Given the description of an element on the screen output the (x, y) to click on. 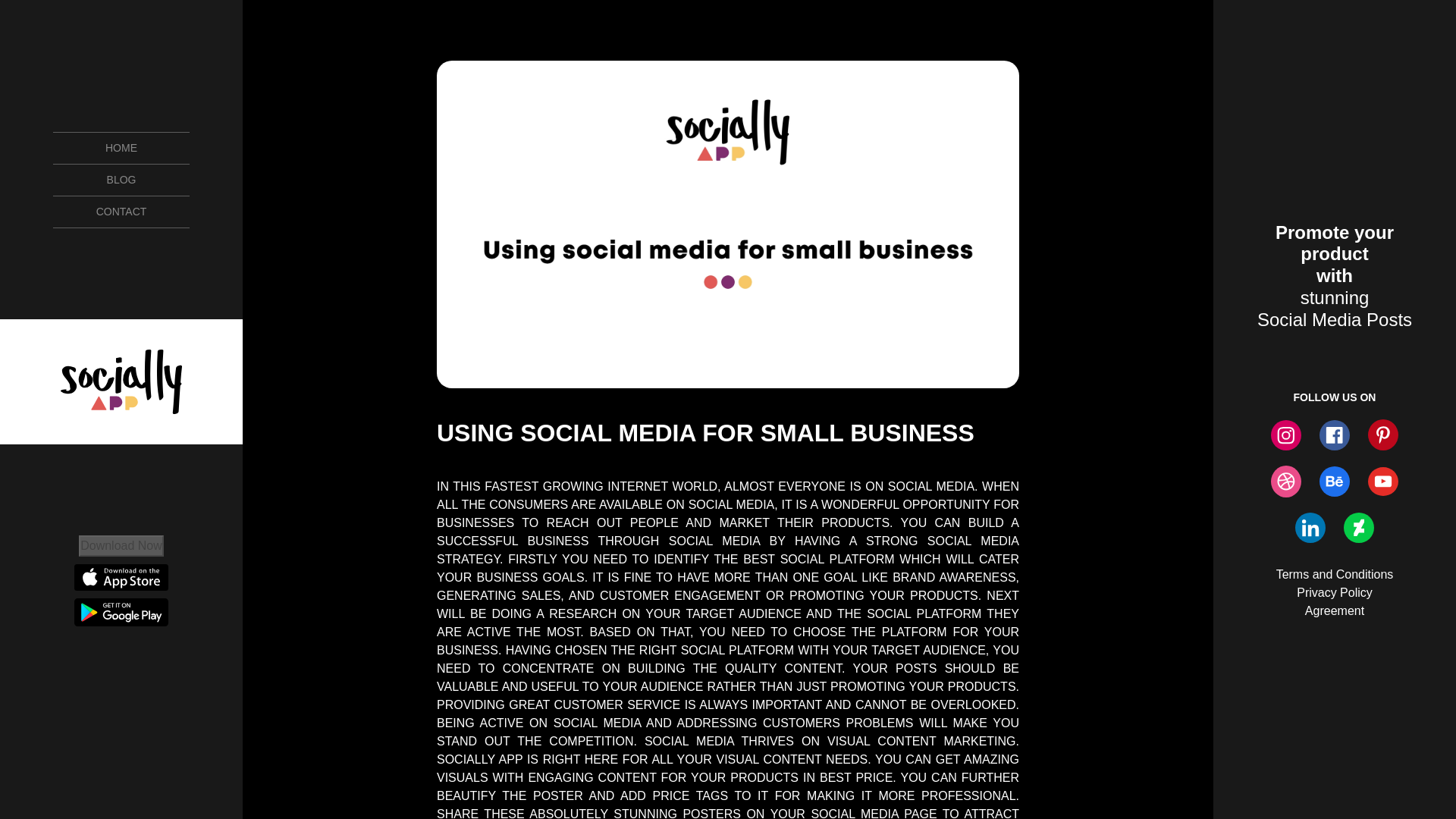
HOME (120, 147)
BLOG (120, 179)
Download Now (120, 545)
CONTACT (120, 211)
Download Now (120, 545)
